Given the description of an element on the screen output the (x, y) to click on. 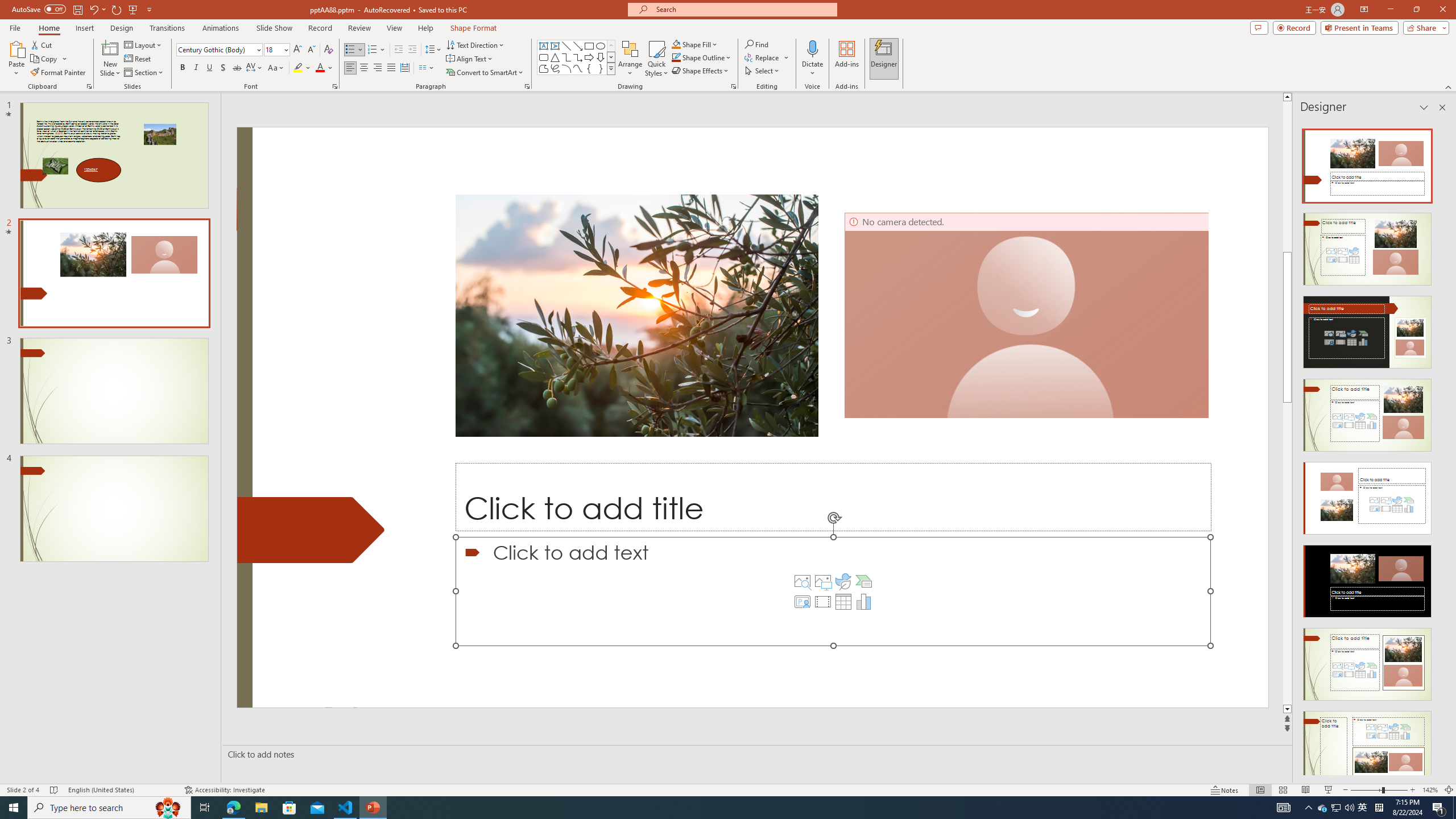
Row up (611, 45)
Text Direction (476, 44)
Dictate (812, 48)
Left Brace (589, 68)
Shape Effects (700, 69)
Increase Font Size (297, 49)
Justify (390, 67)
Slide (114, 508)
Shapes (611, 68)
Row Down (611, 56)
Underline (209, 67)
New Slide (110, 58)
Columns (426, 67)
